Given the description of an element on the screen output the (x, y) to click on. 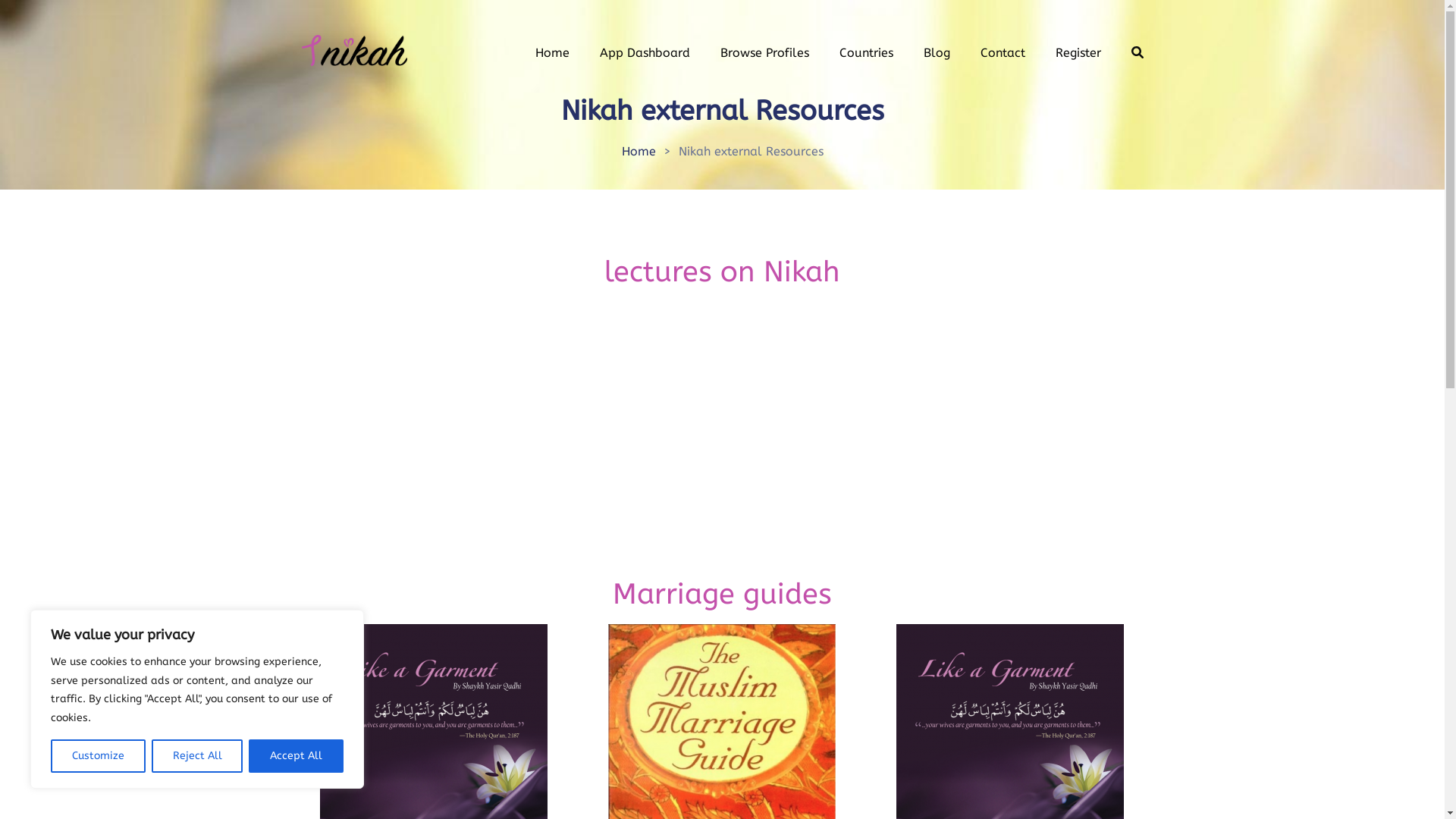
App Dashboard Element type: text (643, 50)
Contact Element type: text (1001, 50)
Customize Element type: text (97, 755)
Reject All Element type: text (197, 755)
Register Element type: text (1078, 50)
Browse Profiles Element type: text (764, 50)
Countries Element type: text (865, 50)
Accept All Element type: text (295, 755)
Home Element type: text (638, 151)
Blog Element type: text (936, 50)
Home Element type: text (552, 50)
